Given the description of an element on the screen output the (x, y) to click on. 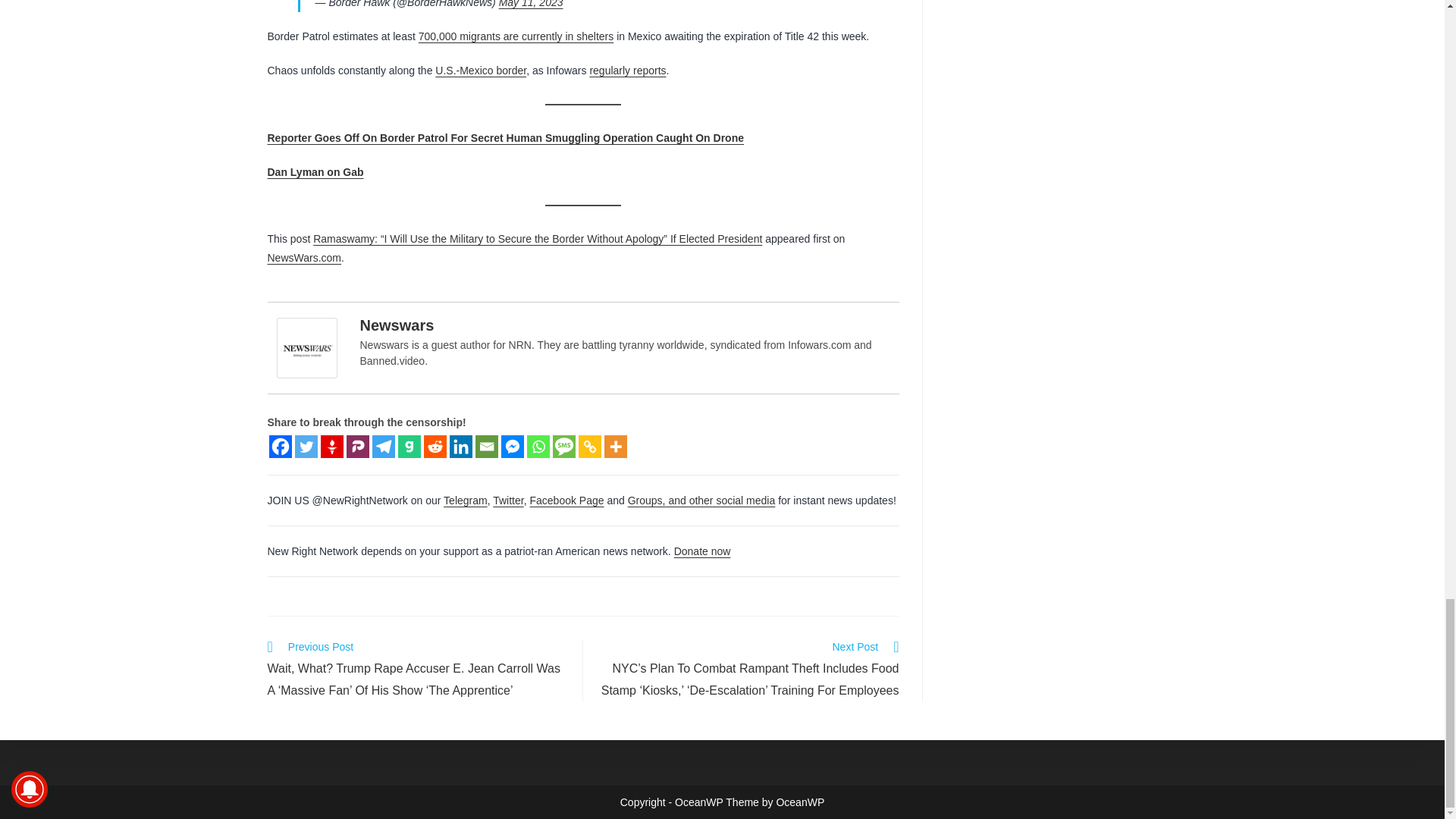
Newswars (309, 347)
